Given the description of an element on the screen output the (x, y) to click on. 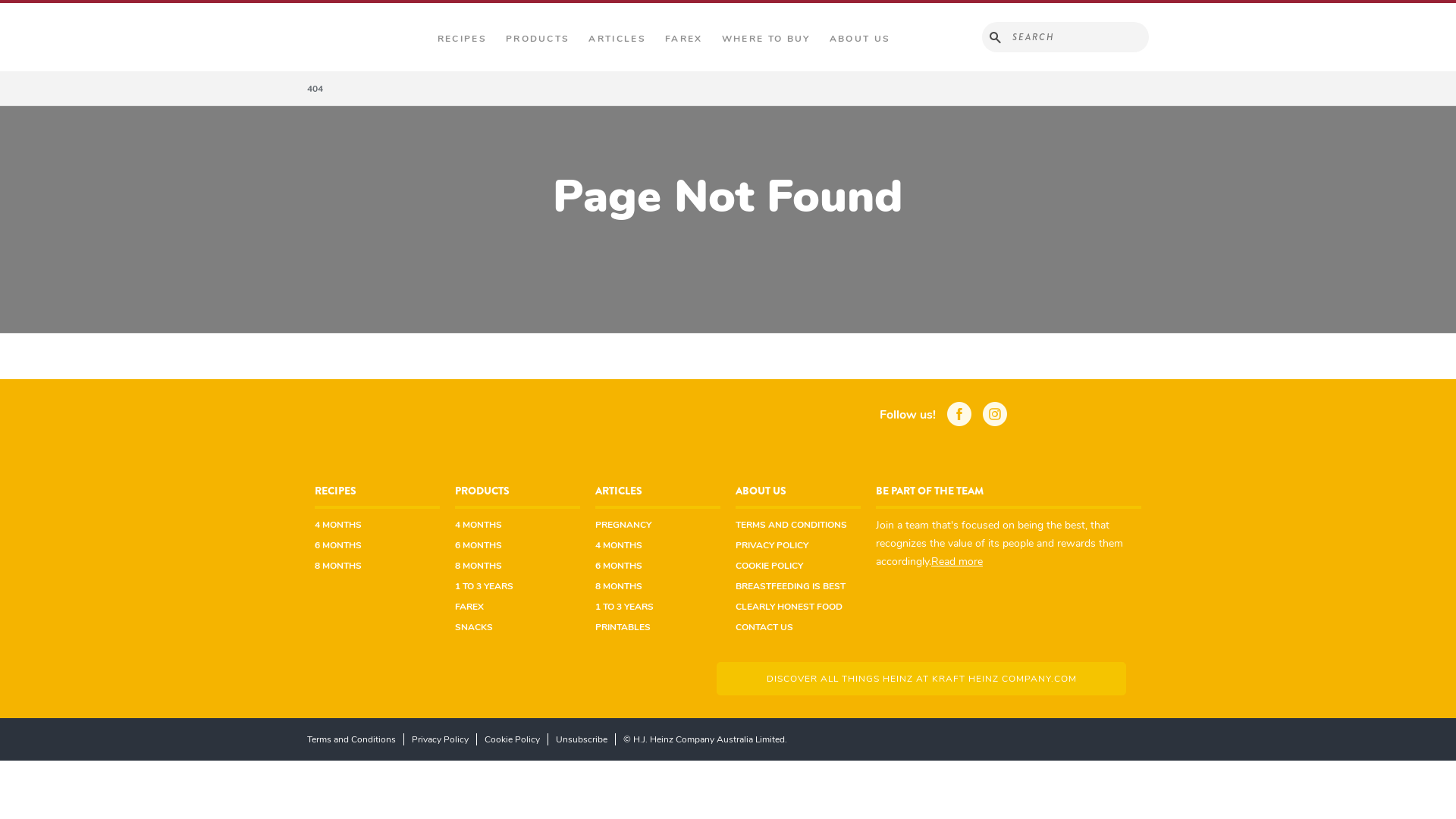
RECIPES Element type: text (461, 38)
ABOUT US Element type: text (859, 38)
facebook Element type: hover (964, 414)
4 MONTHS Element type: text (478, 524)
Unsubscribe Element type: text (581, 738)
TERMS AND CONDITIONS Element type: text (791, 524)
FAREX Element type: text (469, 606)
CLEARLY HONEST FOOD Element type: text (788, 606)
8 MONTHS Element type: text (337, 565)
ARTICLES Element type: text (618, 492)
BREASTFEEDING IS BEST Element type: text (790, 585)
COOKIE POLICY Element type: text (769, 565)
6 MONTHS Element type: text (618, 565)
8 MONTHS Element type: text (478, 565)
1 TO 3 YEARS Element type: text (624, 606)
PRIVACY POLICY Element type: text (771, 544)
SNACKS Element type: text (473, 626)
PRODUCTS Element type: text (538, 38)
RECIPES Element type: text (335, 492)
6 MONTHS Element type: text (337, 544)
4 MONTHS Element type: text (337, 524)
PREGNANCY Element type: text (623, 524)
PRODUCTS Element type: text (482, 492)
Read more Element type: text (956, 560)
6 MONTHS Element type: text (478, 544)
DISCOVER ALL THINGS HEINZ AT KRAFT HEINZ COMPANY.COM Element type: text (921, 677)
4 MONTHS Element type: text (618, 544)
404 Element type: text (315, 87)
FAREX Element type: text (683, 38)
ABOUT US Element type: text (760, 492)
CONTACT US Element type: text (764, 626)
8 MONTHS Element type: text (618, 585)
PRINTABLES Element type: text (622, 626)
Cookie Policy Element type: text (512, 738)
1 TO 3 YEARS Element type: text (484, 585)
WHERE TO BUY Element type: text (766, 38)
instagram Element type: hover (1000, 414)
ARTICLES Element type: text (616, 38)
Privacy Policy Element type: text (440, 738)
Terms and Conditions Element type: text (355, 738)
